Given the description of an element on the screen output the (x, y) to click on. 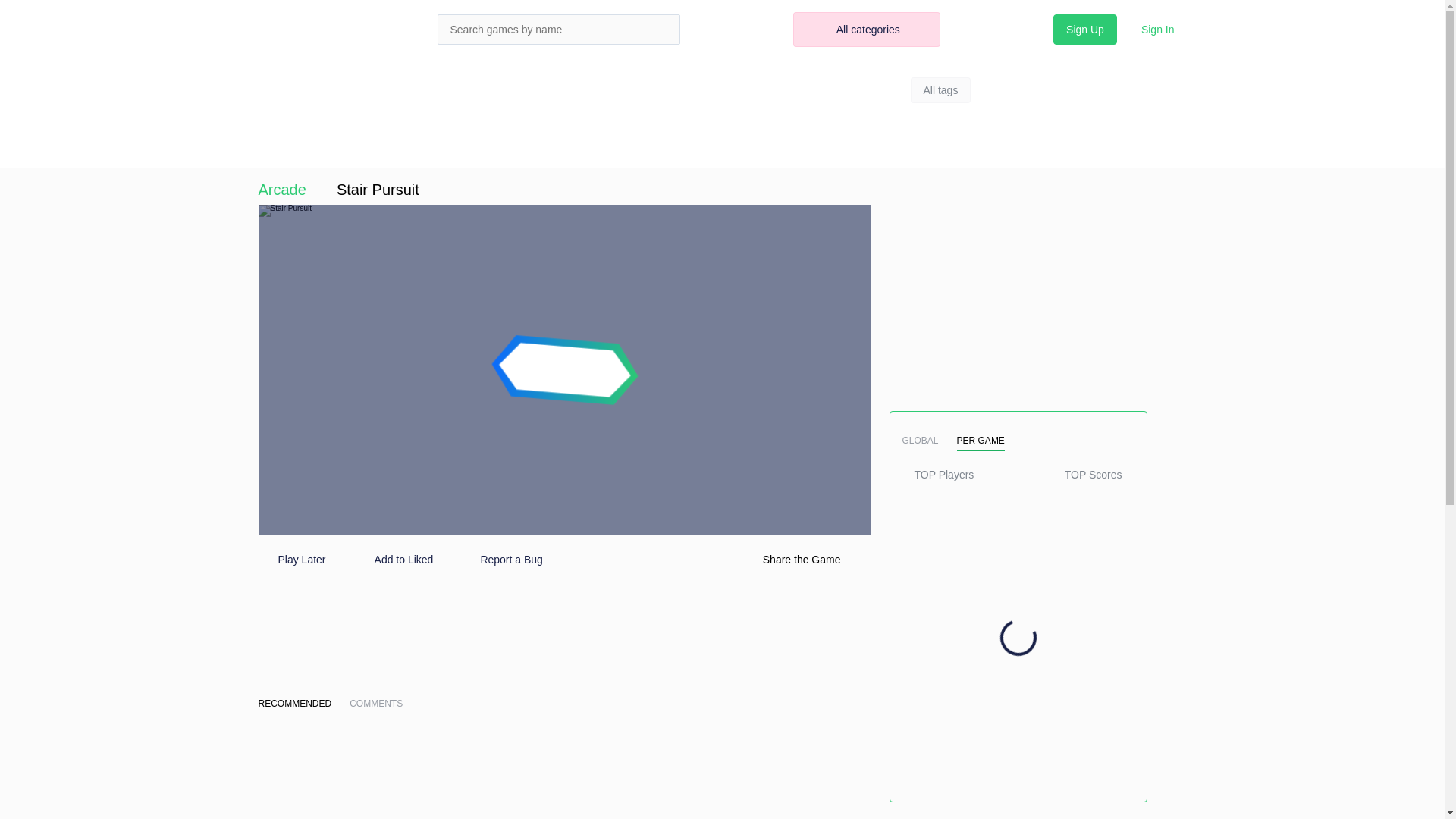
All tags (940, 89)
Arcade (281, 189)
Sign Up (1084, 29)
Add to Liked (391, 559)
Report a Bug (500, 559)
Sign In (1157, 29)
Play Later (290, 559)
